Given the description of an element on the screen output the (x, y) to click on. 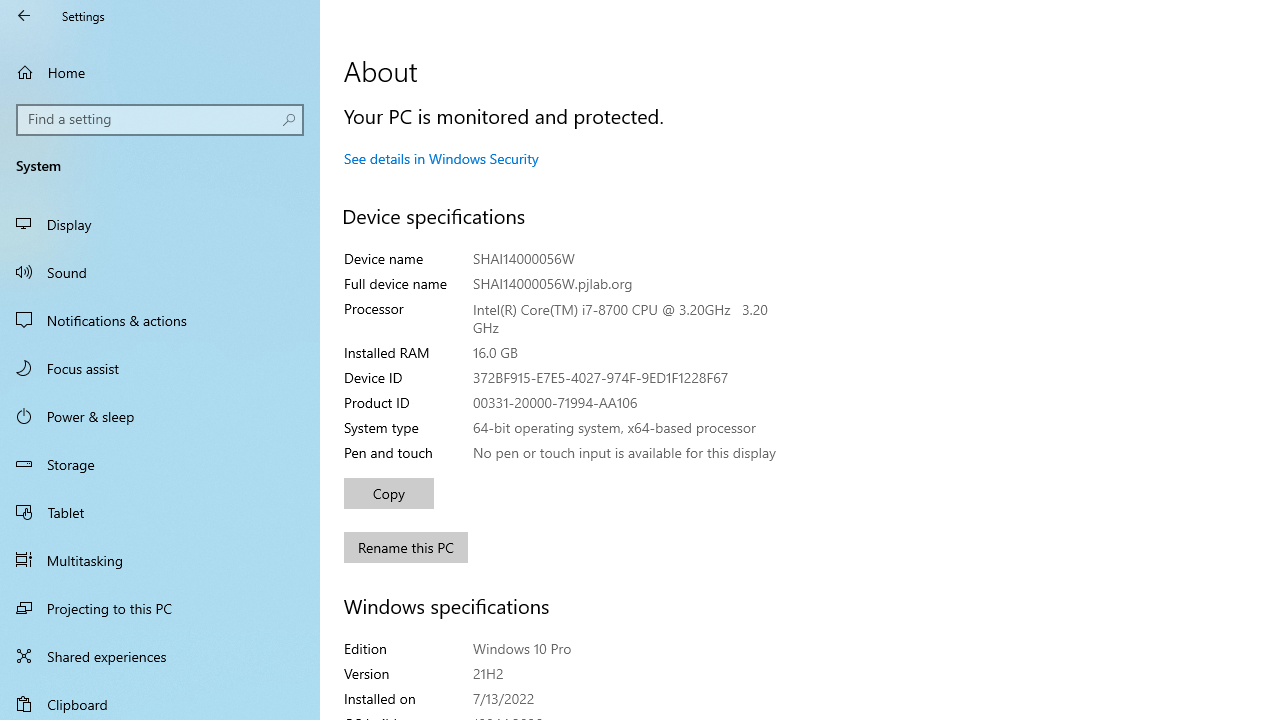
Storage (160, 463)
